Given the description of an element on the screen output the (x, y) to click on. 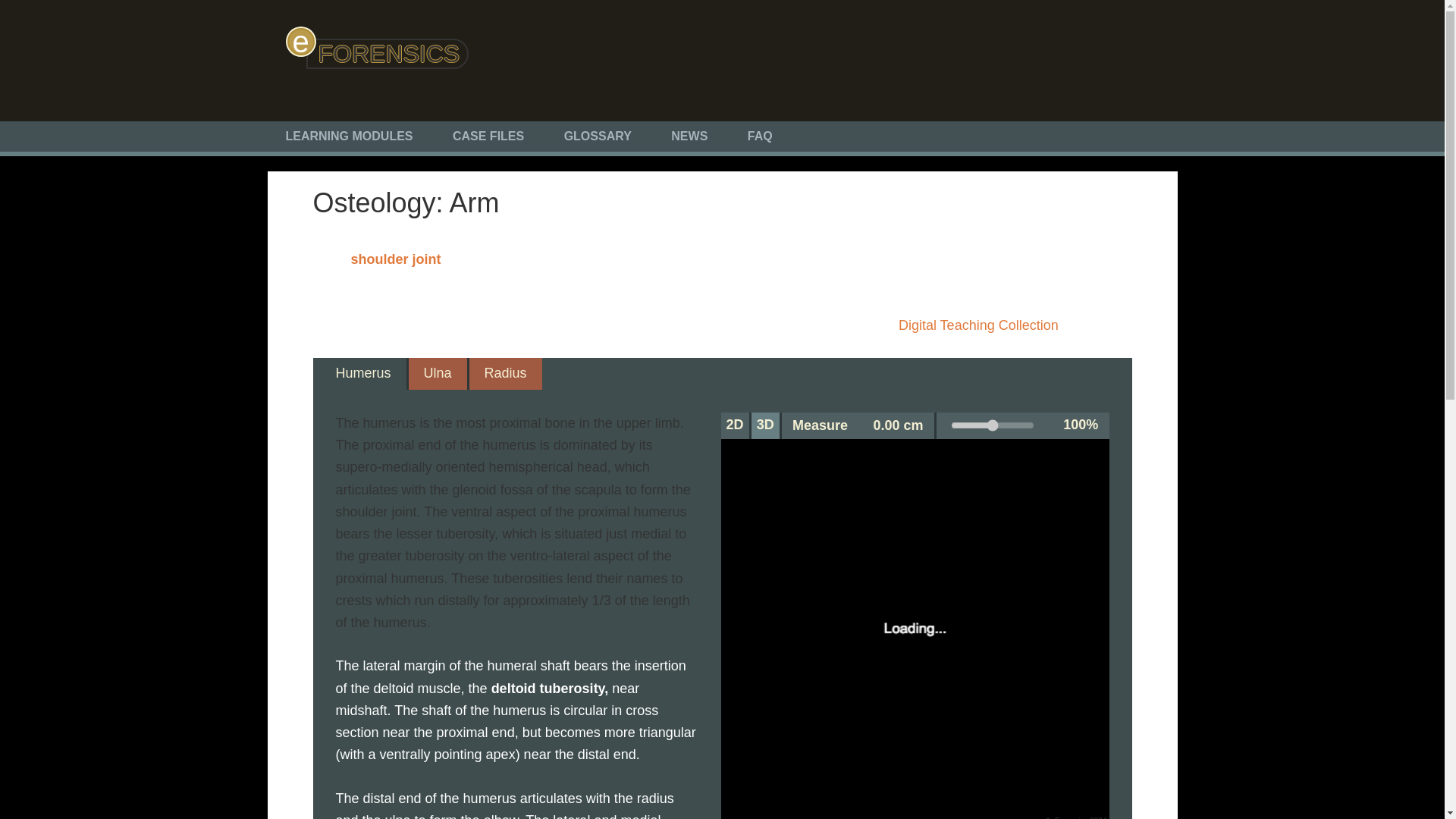
Humerus (362, 373)
shoulder joint (395, 258)
LEARNING MODULES (348, 136)
GLOSSARY (597, 136)
53 (991, 425)
FAQ (759, 136)
Measure (820, 425)
Ulna (437, 373)
Digital Teaching Collection (978, 324)
Radius (505, 373)
